Given the description of an element on the screen output the (x, y) to click on. 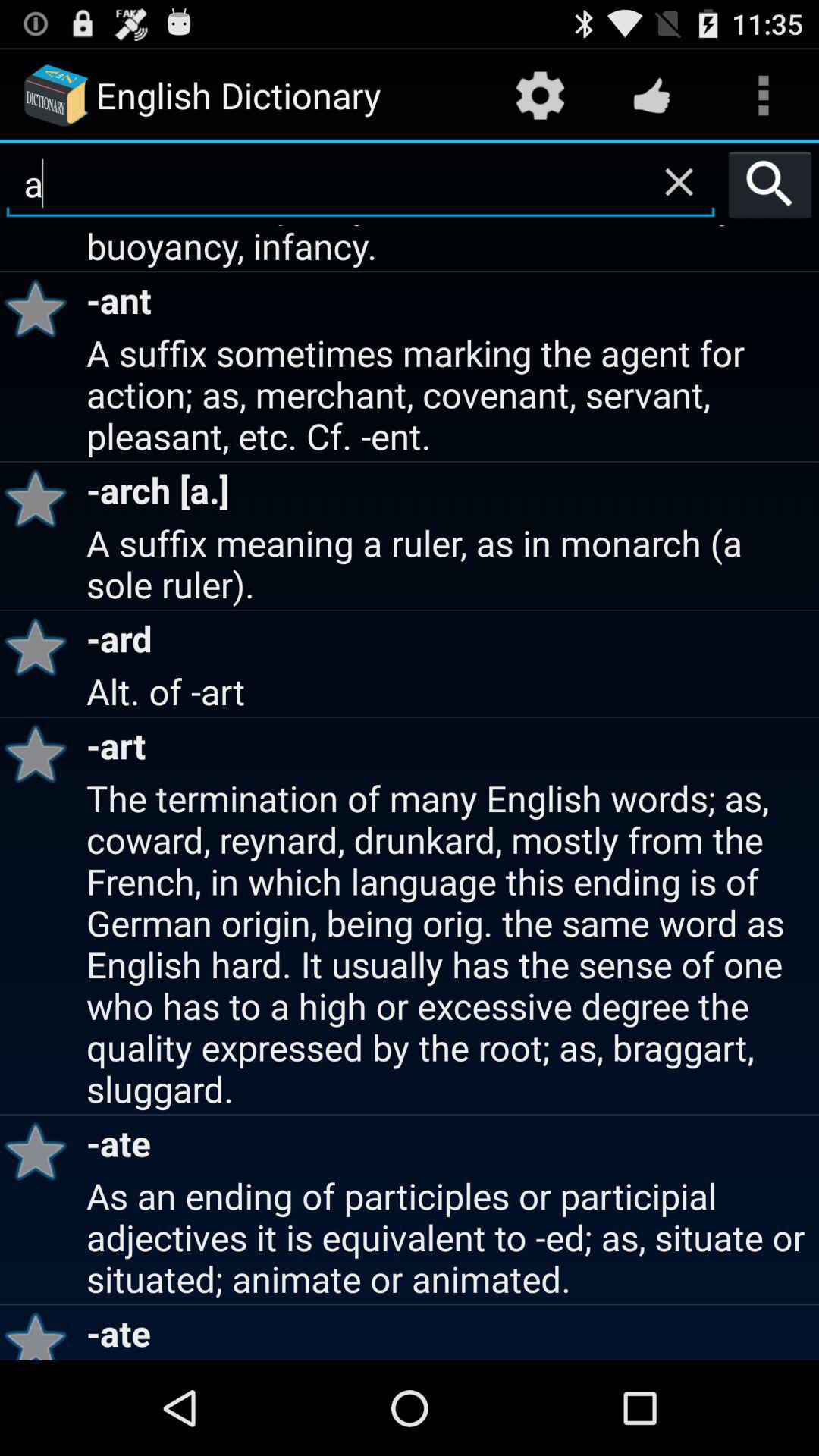
press the app below alt. of -art icon (41, 753)
